Given the description of an element on the screen output the (x, y) to click on. 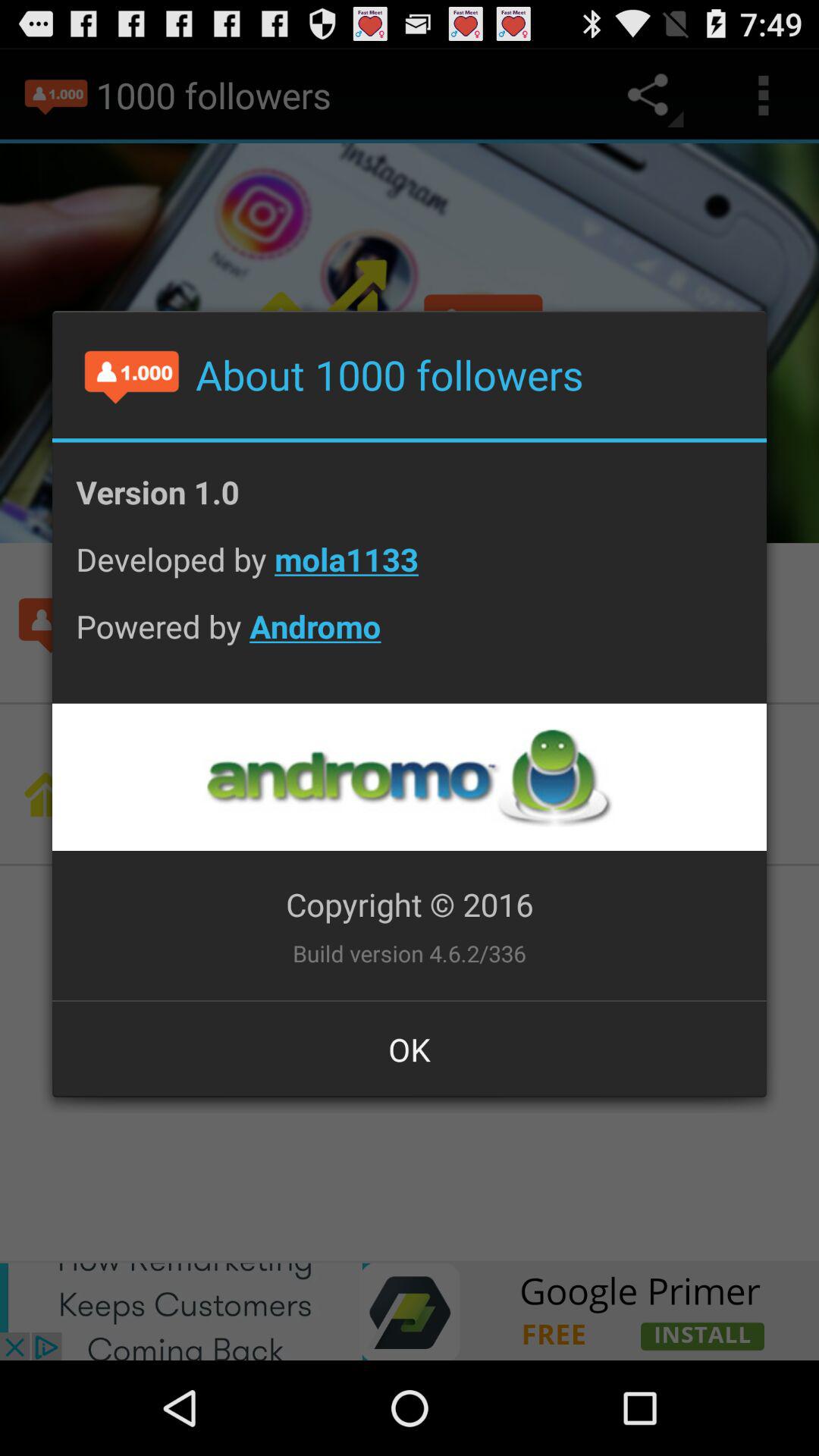
turn on the app below version 1.0 app (409, 570)
